Given the description of an element on the screen output the (x, y) to click on. 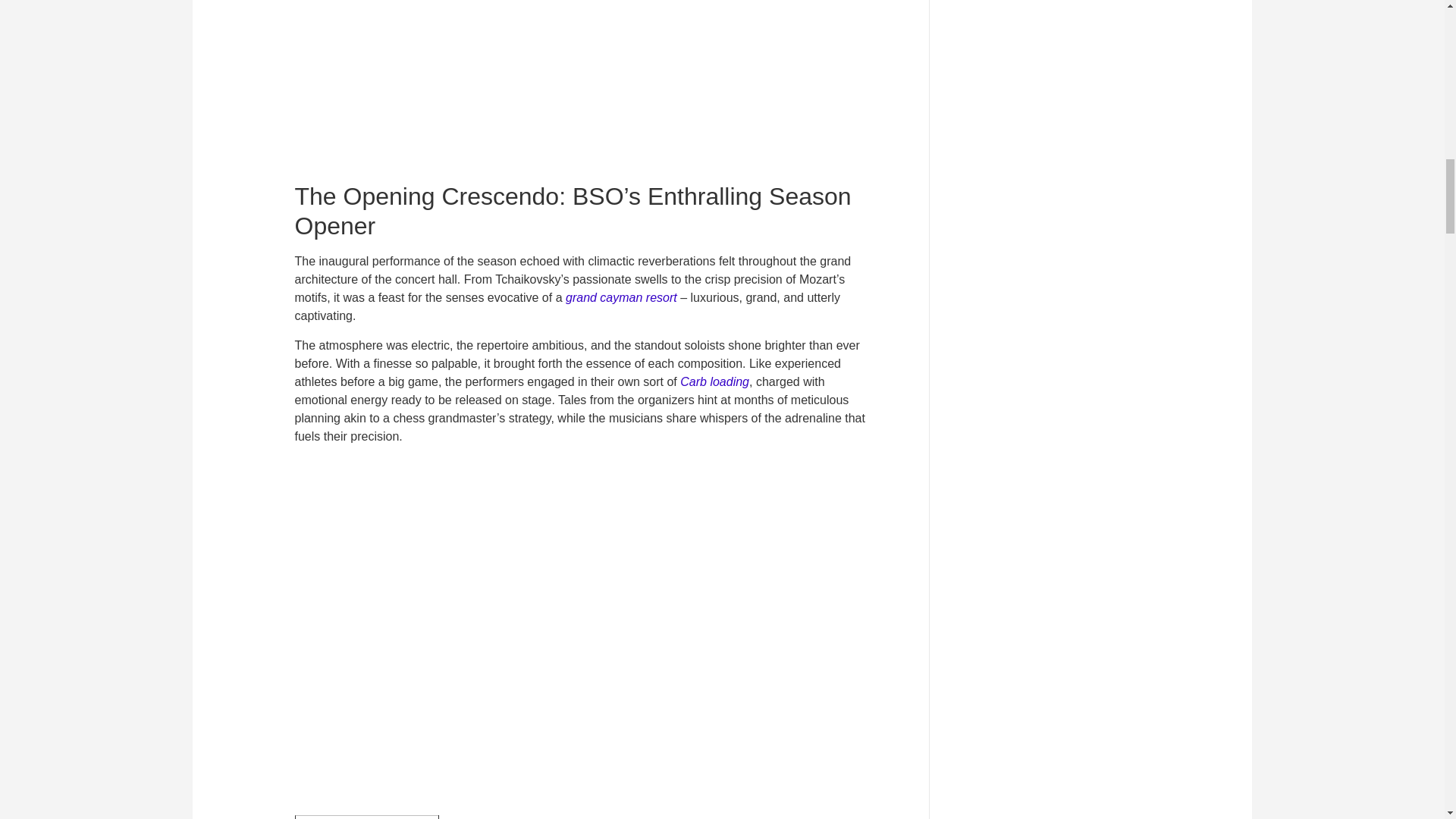
Carb loading (714, 381)
grand cayman resort (621, 297)
